Given the description of an element on the screen output the (x, y) to click on. 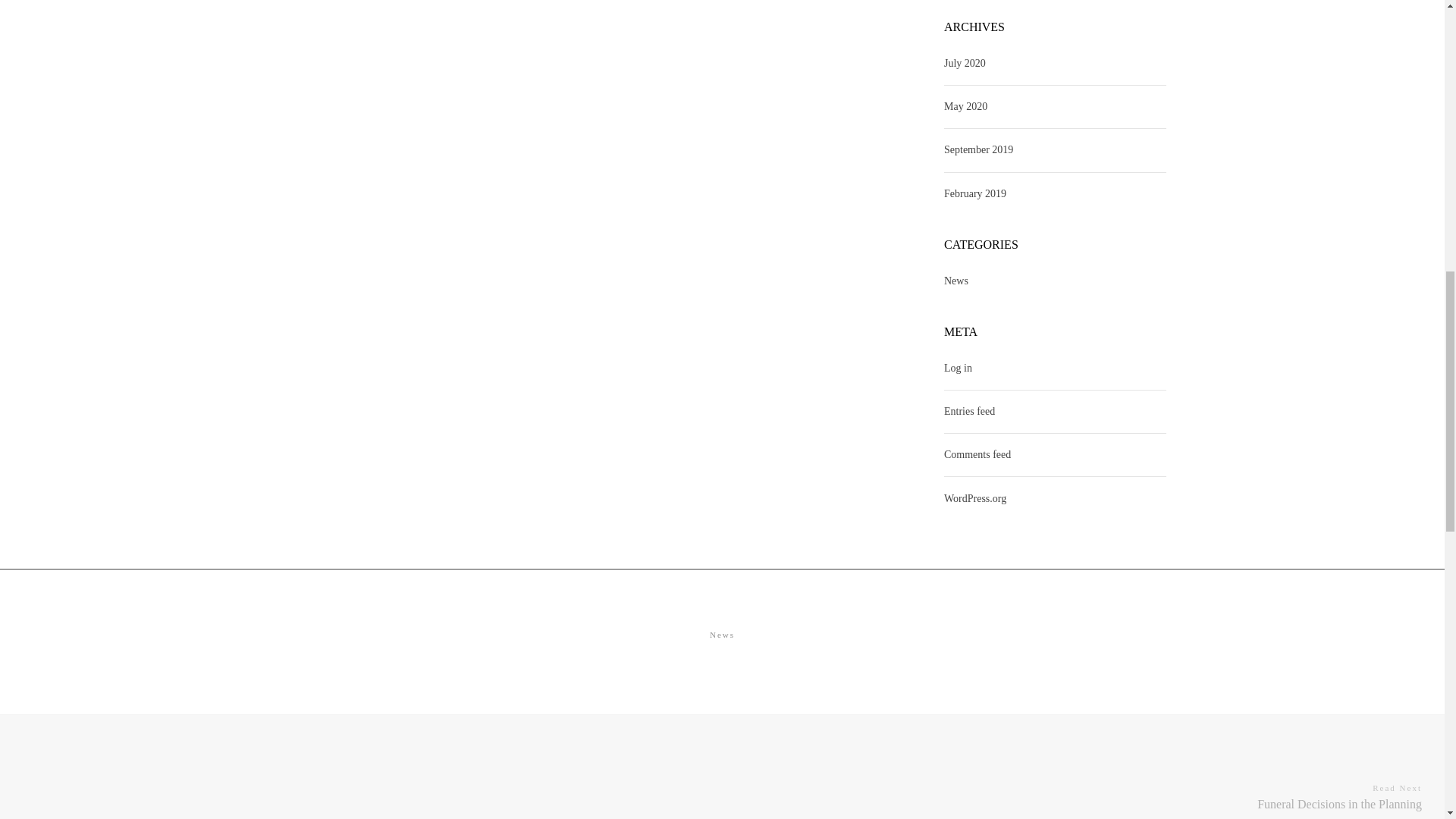
News (722, 634)
Comments feed (976, 454)
February 2019 (974, 194)
Log in (957, 367)
WordPress.org (974, 498)
May 2020 (965, 106)
Entries feed (968, 410)
News (955, 280)
September 2019 (978, 149)
July 2020 (964, 63)
